Given the description of an element on the screen output the (x, y) to click on. 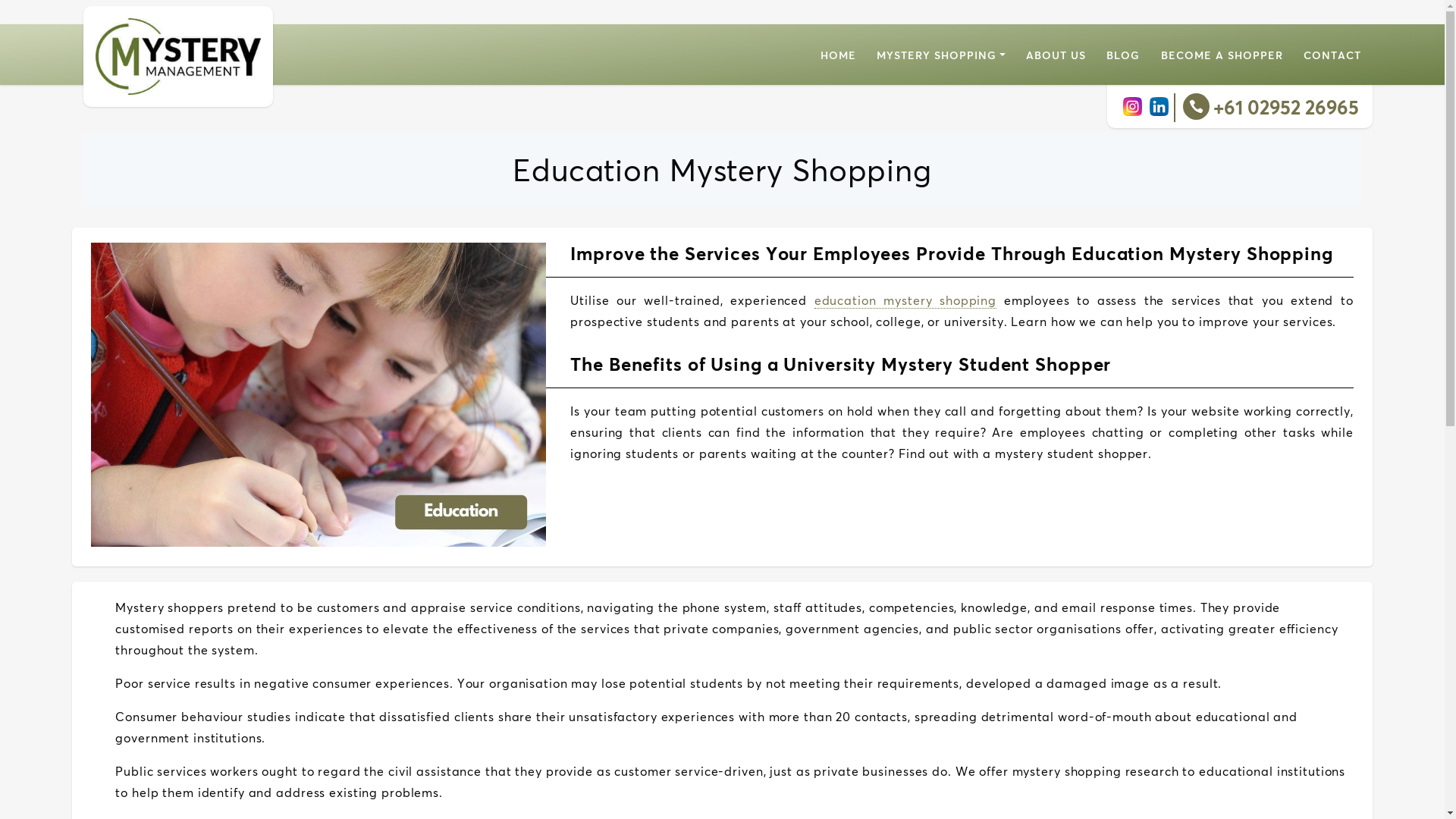
MYSTERY SHOPPING Element type: text (940, 55)
secret shopper in Australia Element type: hover (177, 56)
+61 02952 26965 Element type: text (1285, 107)
linkedin Element type: hover (1158, 106)
CONTACT Element type: text (1332, 55)
instagram Element type: hover (1132, 106)
BECOME A SHOPPER Element type: text (1222, 55)
education mystery shopping Element type: text (905, 299)
BLOG Element type: text (1122, 55)
ABOUT US Element type: text (1055, 55)
HOME Element type: text (838, 55)
